Given the description of an element on the screen output the (x, y) to click on. 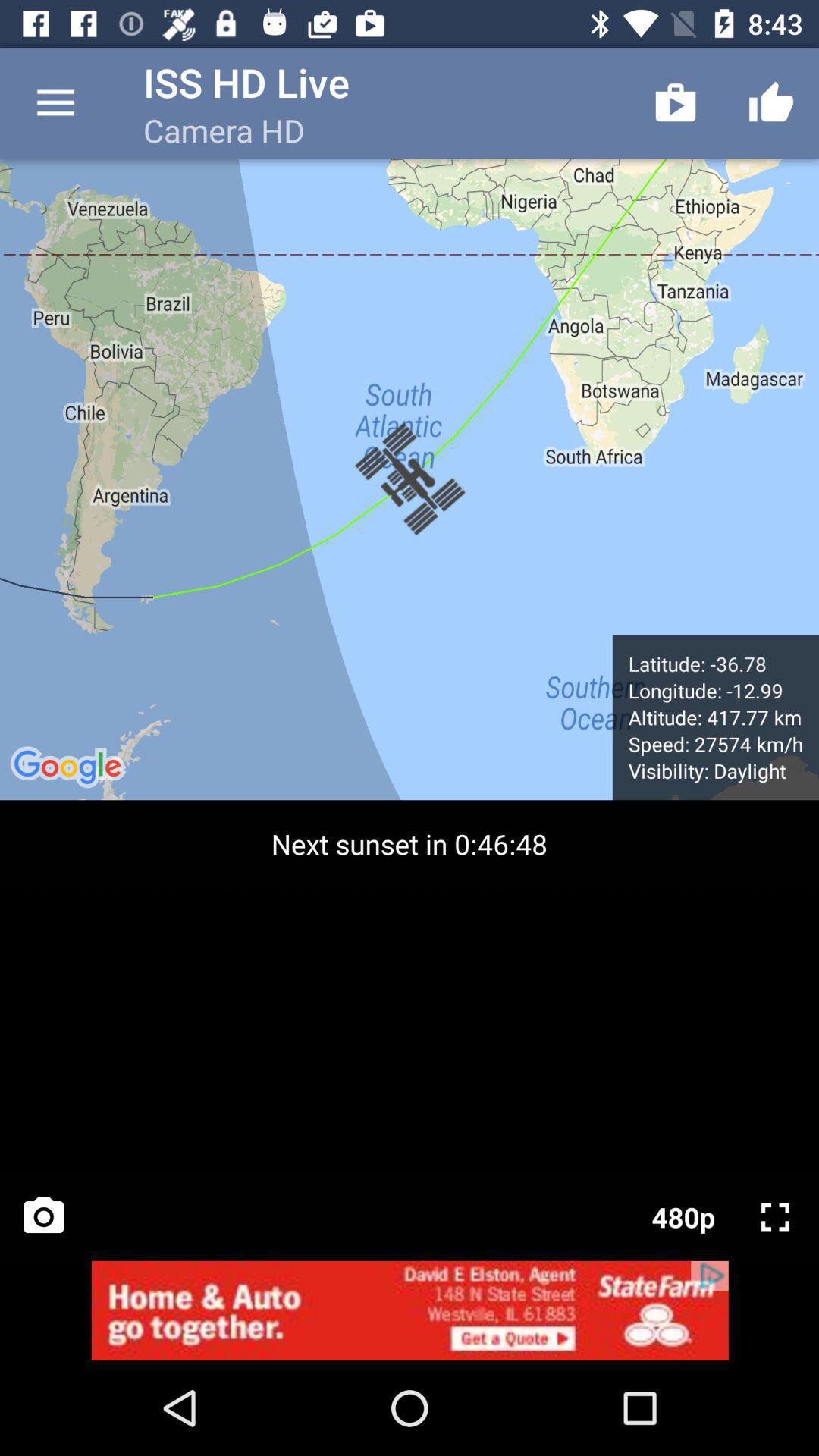
advatisment (409, 1310)
